Given the description of an element on the screen output the (x, y) to click on. 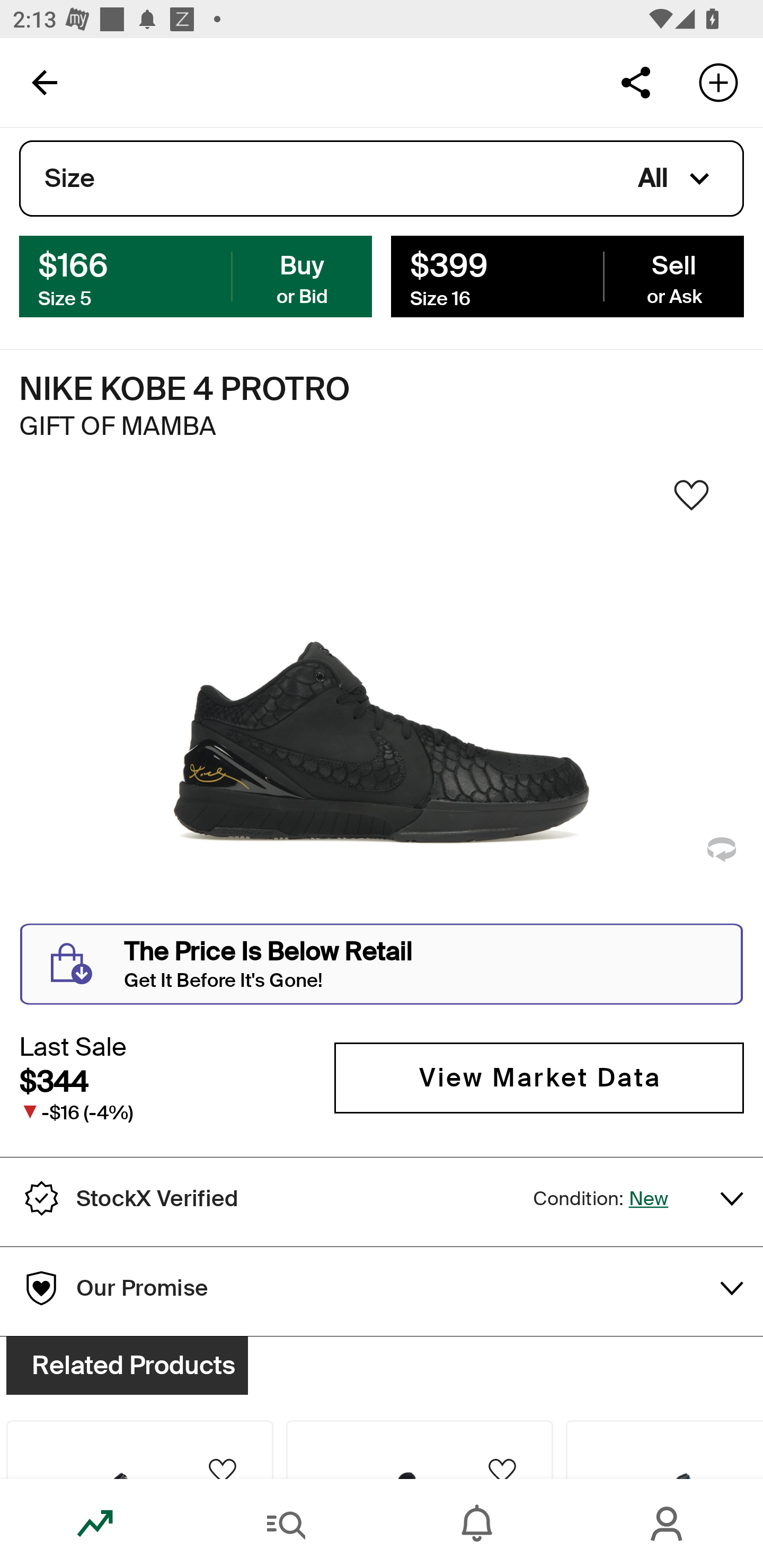
Share (635, 81)
Add (718, 81)
Size All (381, 178)
$166 Buy Size 5 or Bid (195, 275)
$399 Sell Size 16 or Ask (566, 275)
Sneaker Image (381, 699)
View Market Data (538, 1077)
Search (285, 1523)
Inbox (476, 1523)
Account (667, 1523)
